Given the description of an element on the screen output the (x, y) to click on. 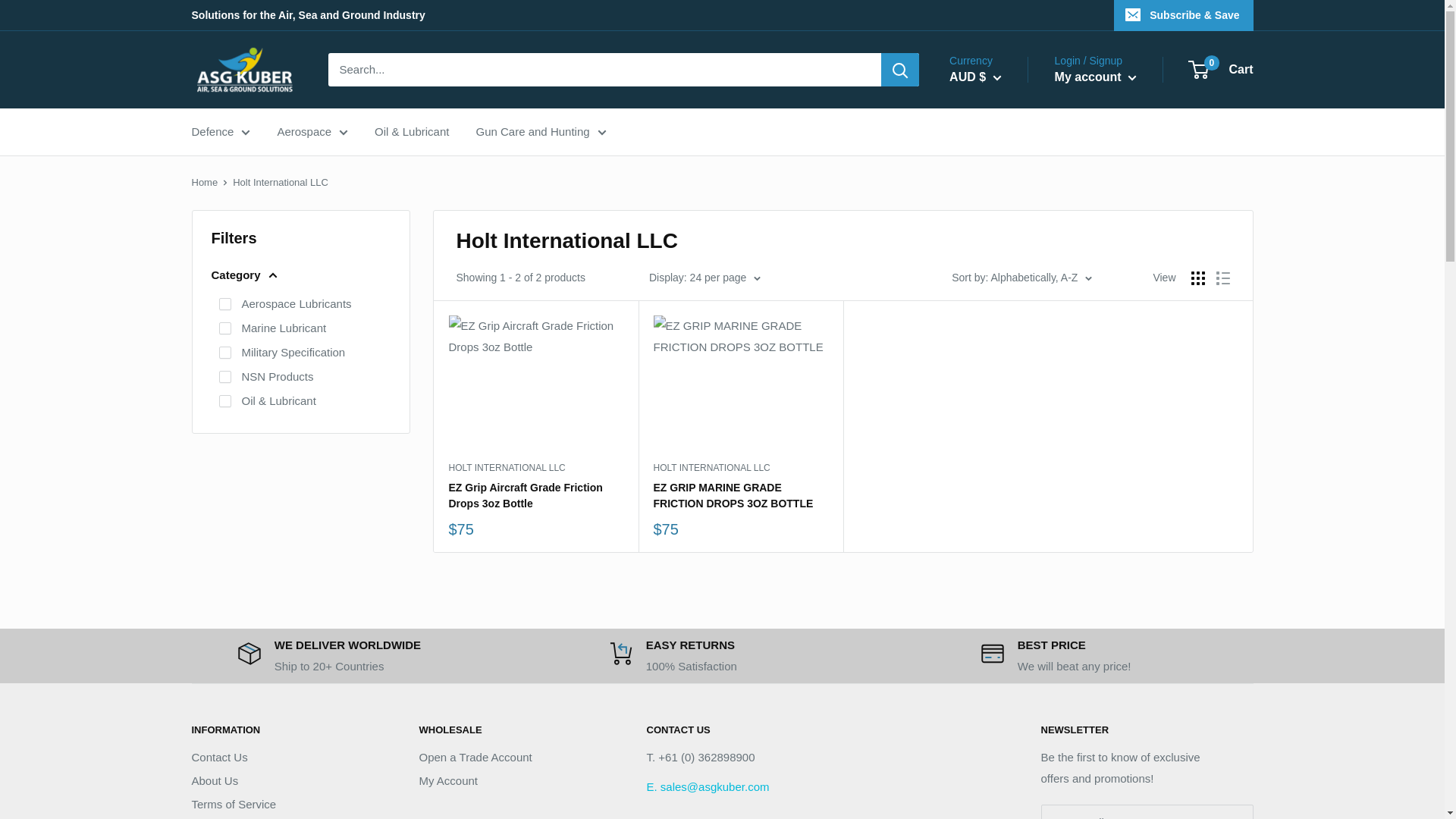
AUD (997, 354)
BBD (997, 442)
BGN (997, 486)
BAM (997, 420)
BDT (997, 464)
AMD (997, 311)
ALL (997, 289)
on (224, 328)
BIF (997, 508)
on (224, 352)
AWG (997, 376)
AZN (997, 398)
on (224, 377)
on (224, 304)
AED (997, 245)
